Given the description of an element on the screen output the (x, y) to click on. 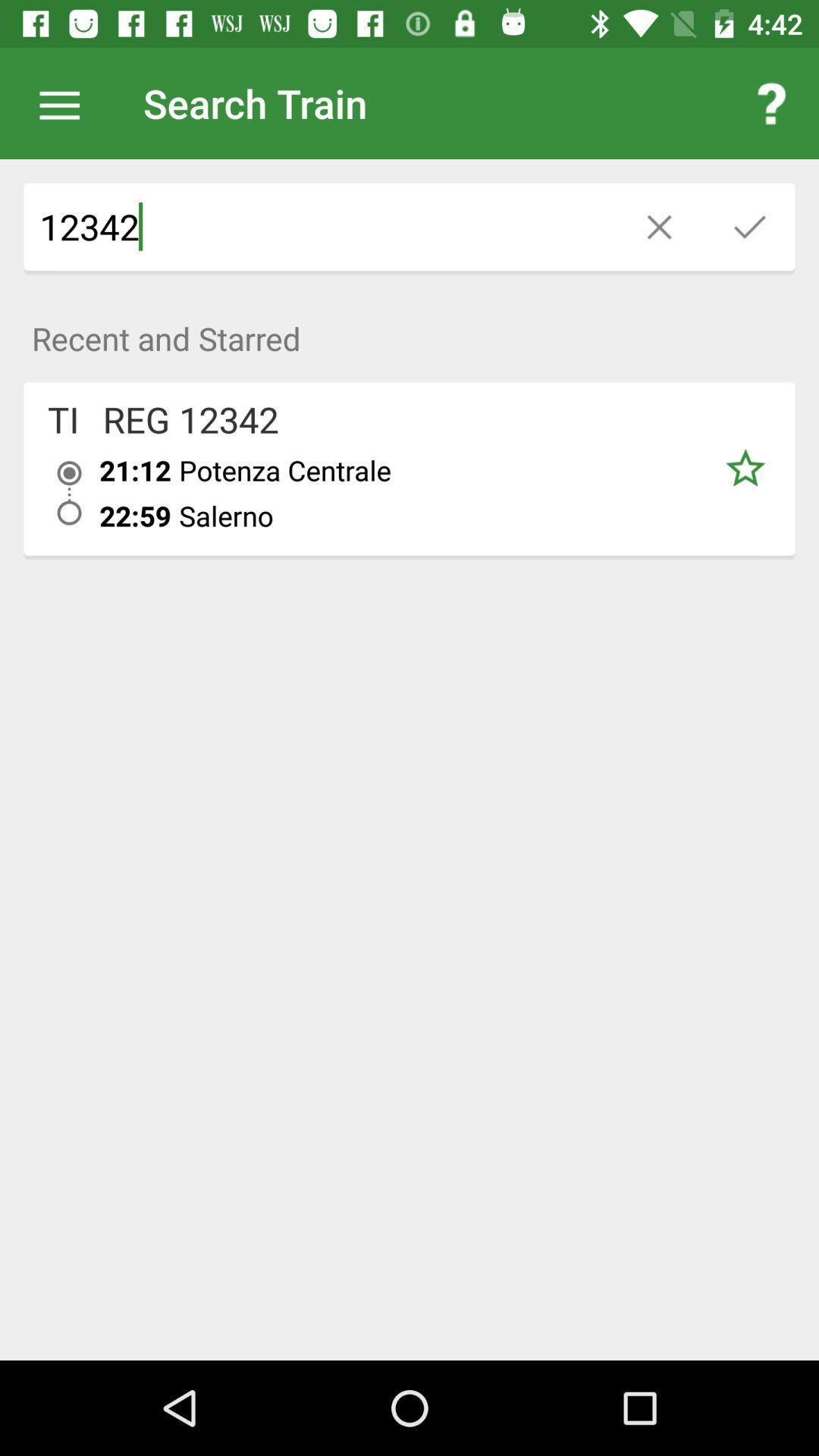
star the article (745, 468)
